Given the description of an element on the screen output the (x, y) to click on. 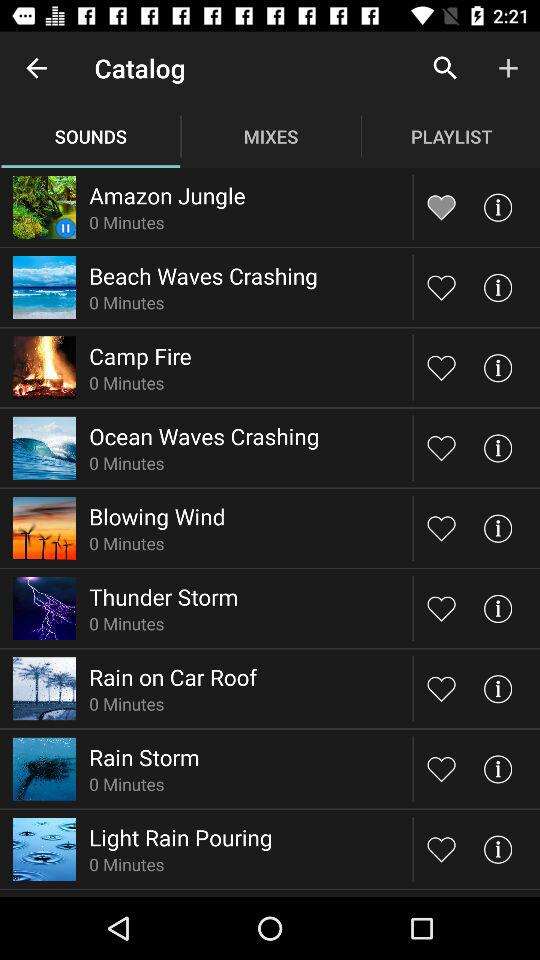
like song (441, 848)
